Given the description of an element on the screen output the (x, y) to click on. 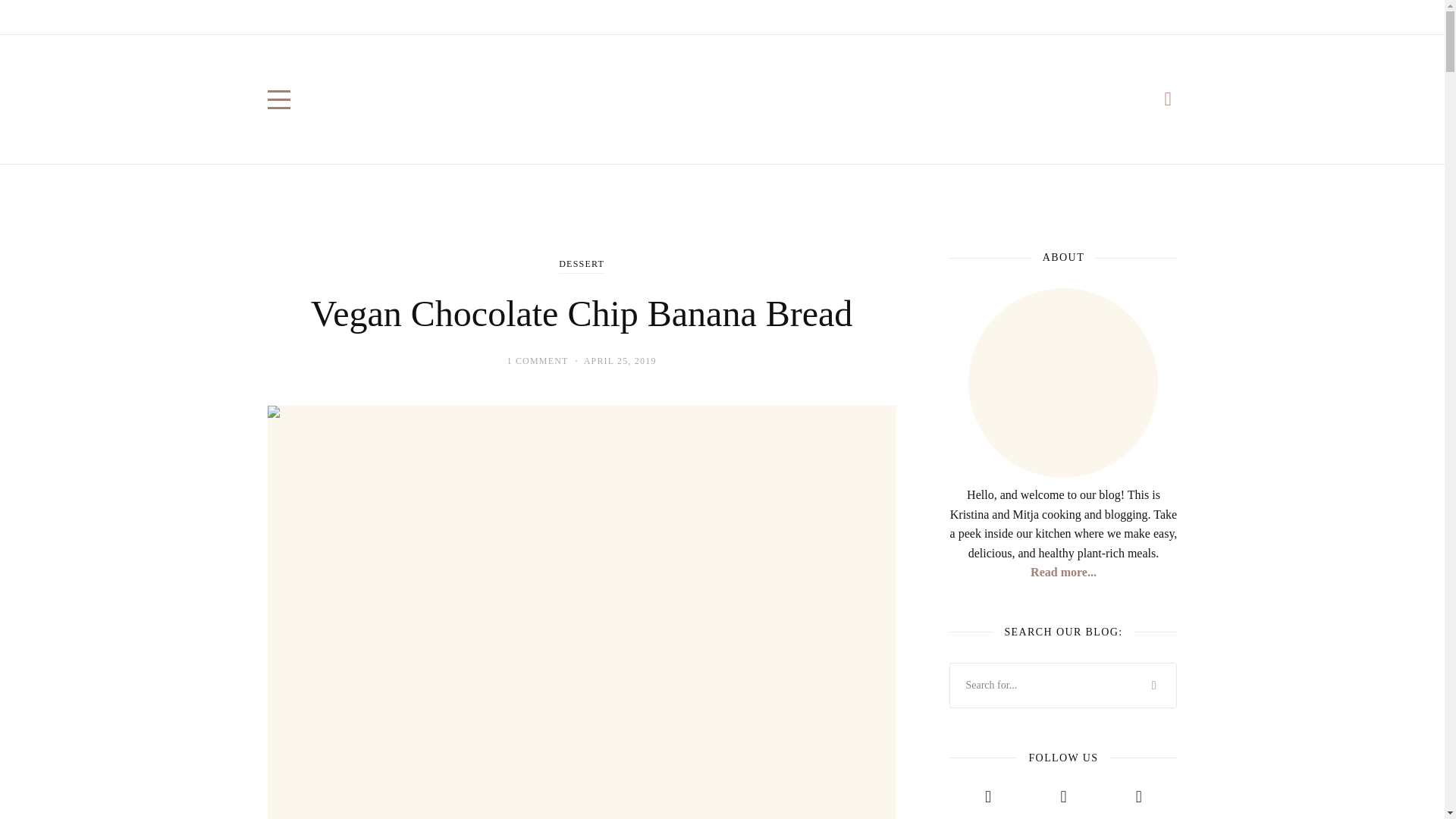
ABOUT (682, 17)
Categories (581, 265)
Instagram (1102, 16)
NEWSLETTER (614, 17)
1 COMMENT (536, 360)
CATEGORIES (409, 17)
YouTube (1135, 16)
CONTACT (741, 17)
VIDEOS (483, 17)
RECIPES (335, 17)
Facebook (1069, 16)
STORIES (540, 17)
DESSERT (581, 265)
HOME (282, 17)
Pinterest (1169, 16)
